Given the description of an element on the screen output the (x, y) to click on. 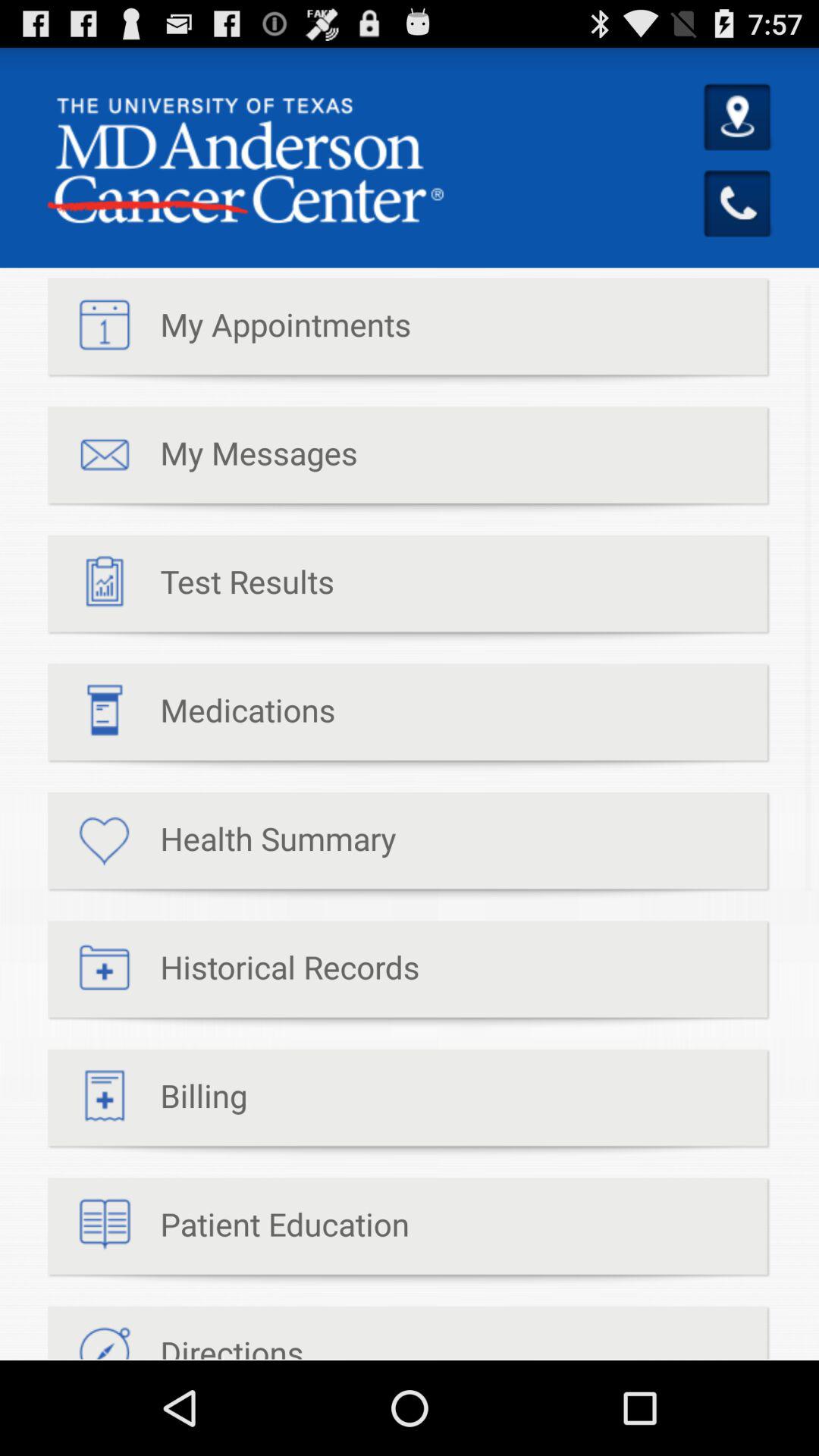
open historical records (233, 974)
